Given the description of an element on the screen output the (x, y) to click on. 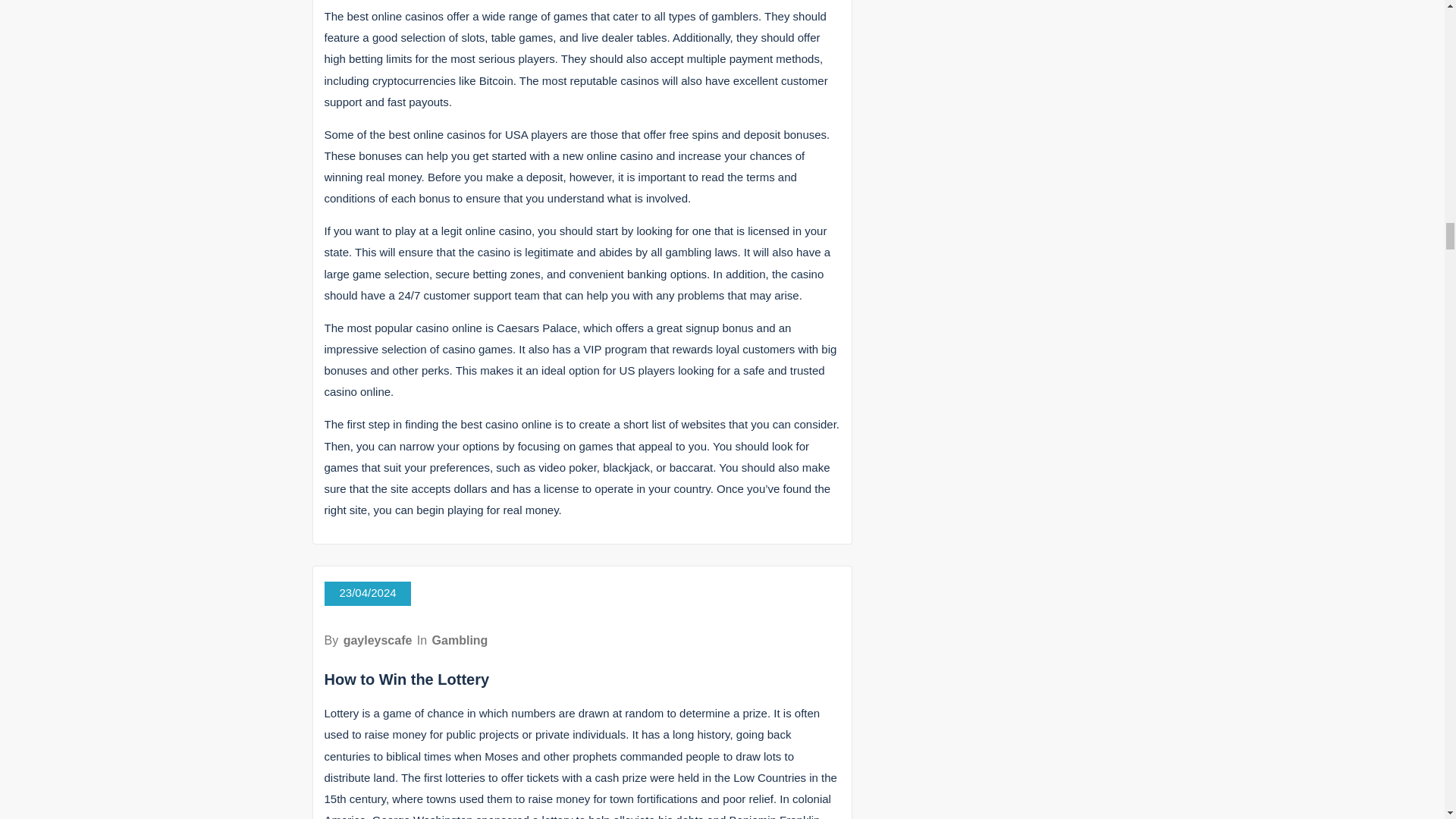
How to Win the Lottery (406, 678)
gayleyscafe (377, 640)
Gambling (459, 640)
